Given the description of an element on the screen output the (x, y) to click on. 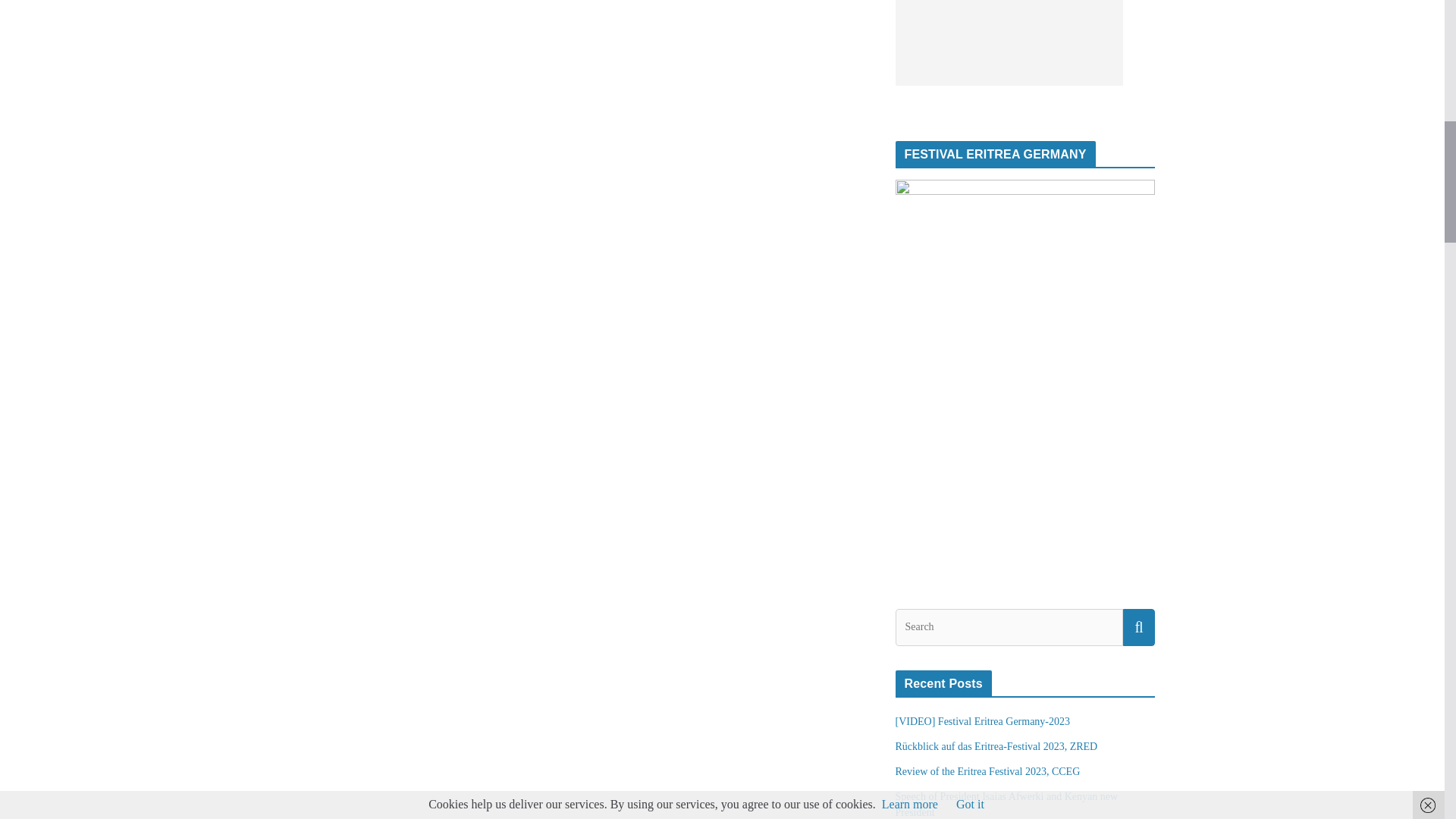
Advertisement (1008, 42)
Speech of President Isaias Afwerki and Kenyan new President (1006, 804)
Review of the Eritrea Festival 2023, CCEG (987, 771)
